Given the description of an element on the screen output the (x, y) to click on. 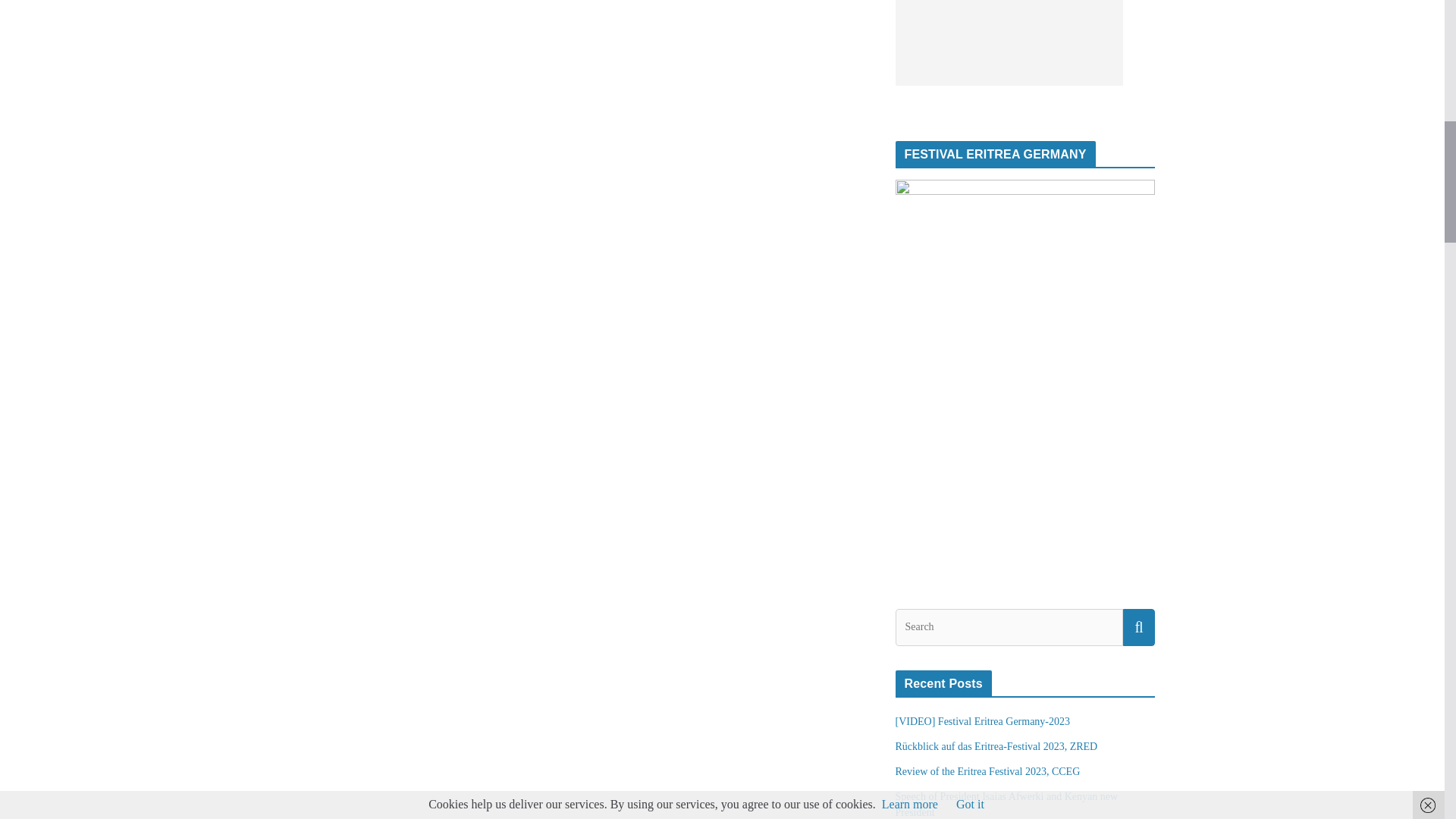
Advertisement (1008, 42)
Speech of President Isaias Afwerki and Kenyan new President (1006, 804)
Review of the Eritrea Festival 2023, CCEG (987, 771)
